Given the description of an element on the screen output the (x, y) to click on. 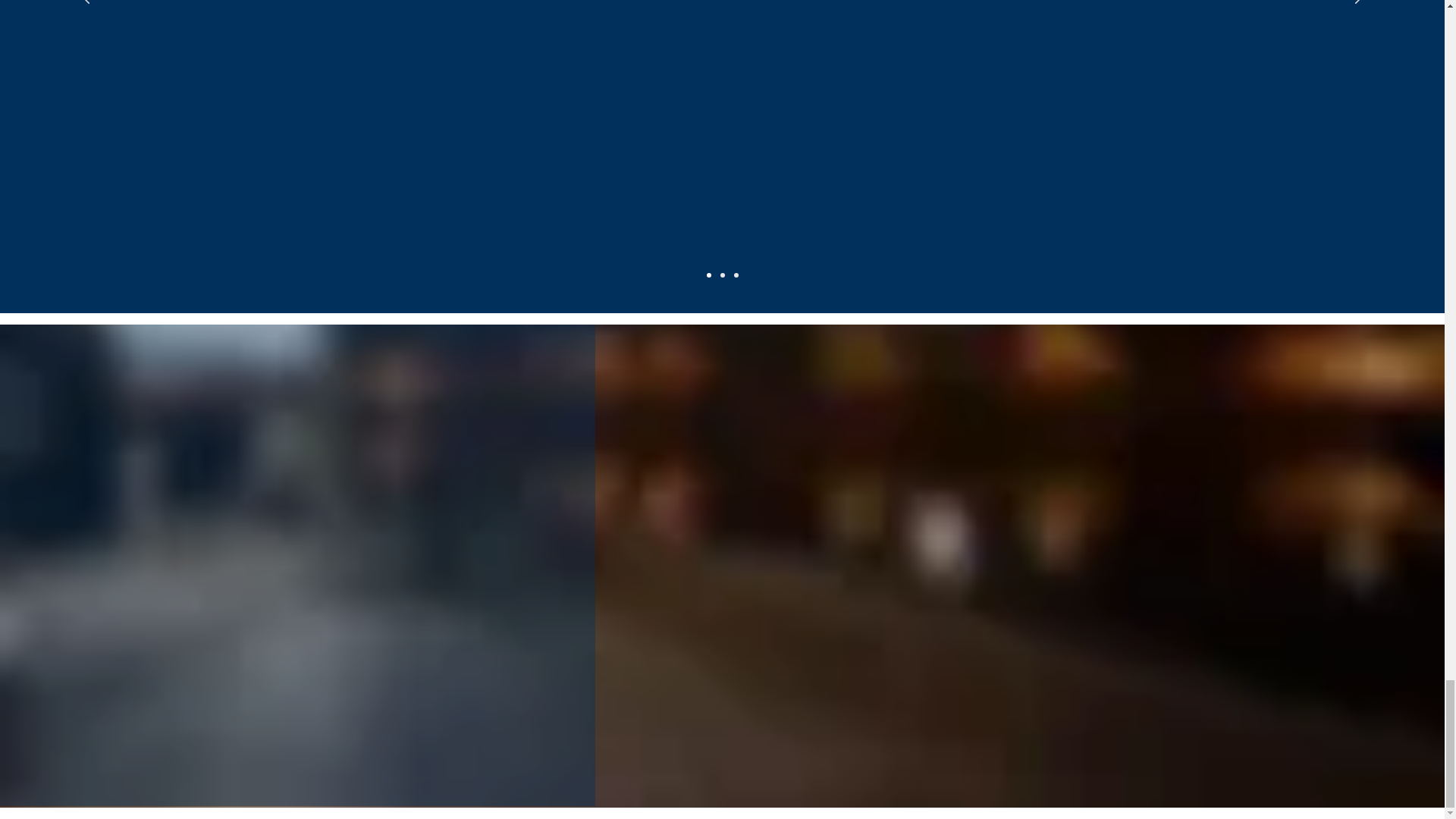
Wix.com (643, 347)
